Given the description of an element on the screen output the (x, y) to click on. 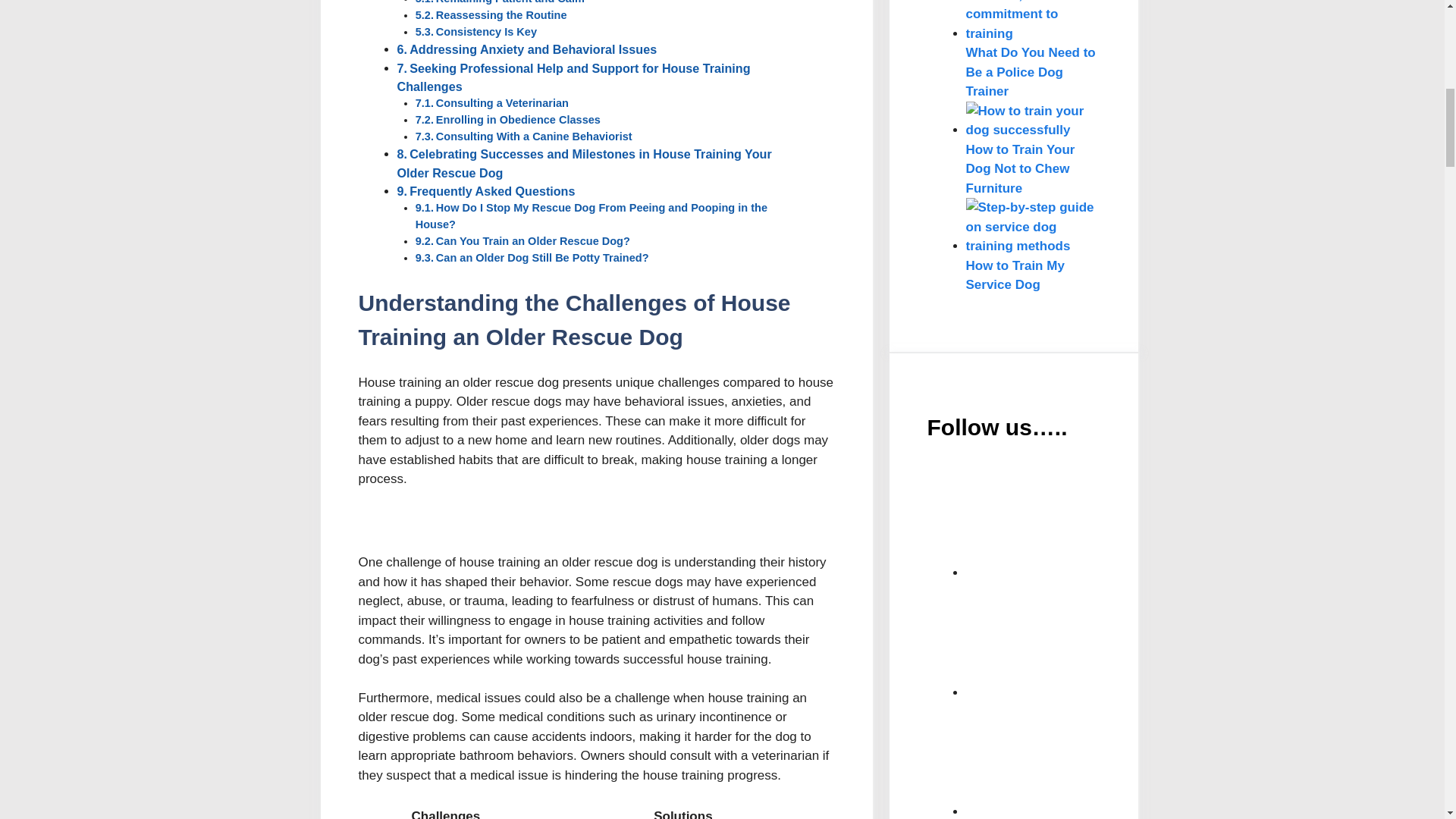
Consulting With a Canine Behaviorist (533, 136)
Pinterest (1079, 758)
Enrolling in Obedience Classes (517, 119)
Consistency Is Key (486, 31)
Consulting a Veterinarian (502, 102)
Addressing Anxiety and Behavioral Issues (532, 49)
Facebook (1079, 639)
Reassessing the Routine (501, 15)
Remaining Patient and Calm (510, 2)
Email (1079, 520)
